Given the description of an element on the screen output the (x, y) to click on. 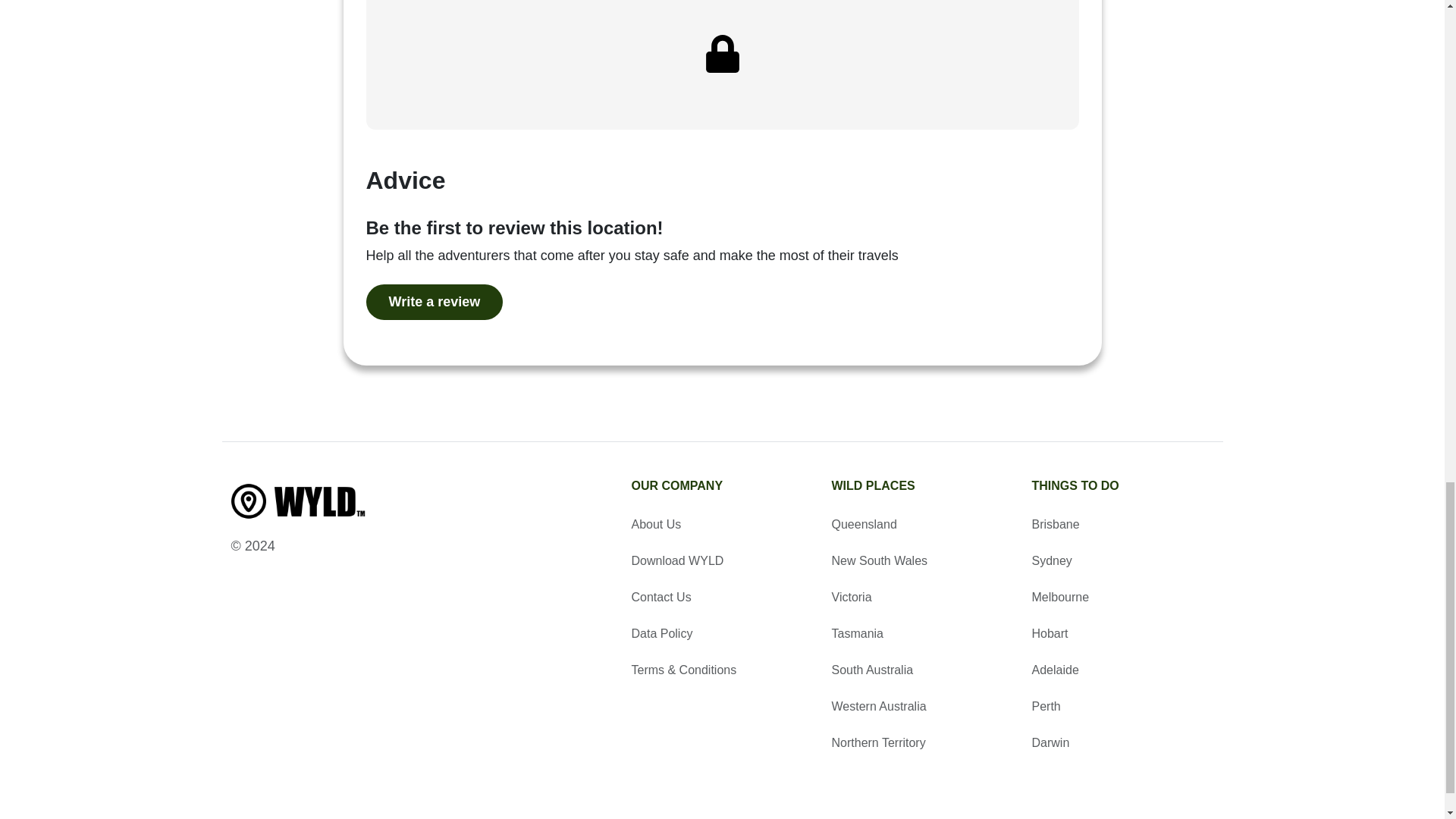
Darwin (1121, 742)
New South Wales (922, 561)
Western Australia (922, 706)
Melbourne (1121, 597)
Hobart (1121, 633)
Brisbane (1121, 524)
Adelaide (1121, 669)
Queensland (922, 524)
Northern Territory (922, 742)
About Us (721, 524)
South Australia (922, 669)
Download WYLD (721, 561)
Sydney (1121, 561)
Data Policy (721, 633)
Victoria (922, 597)
